Given the description of an element on the screen output the (x, y) to click on. 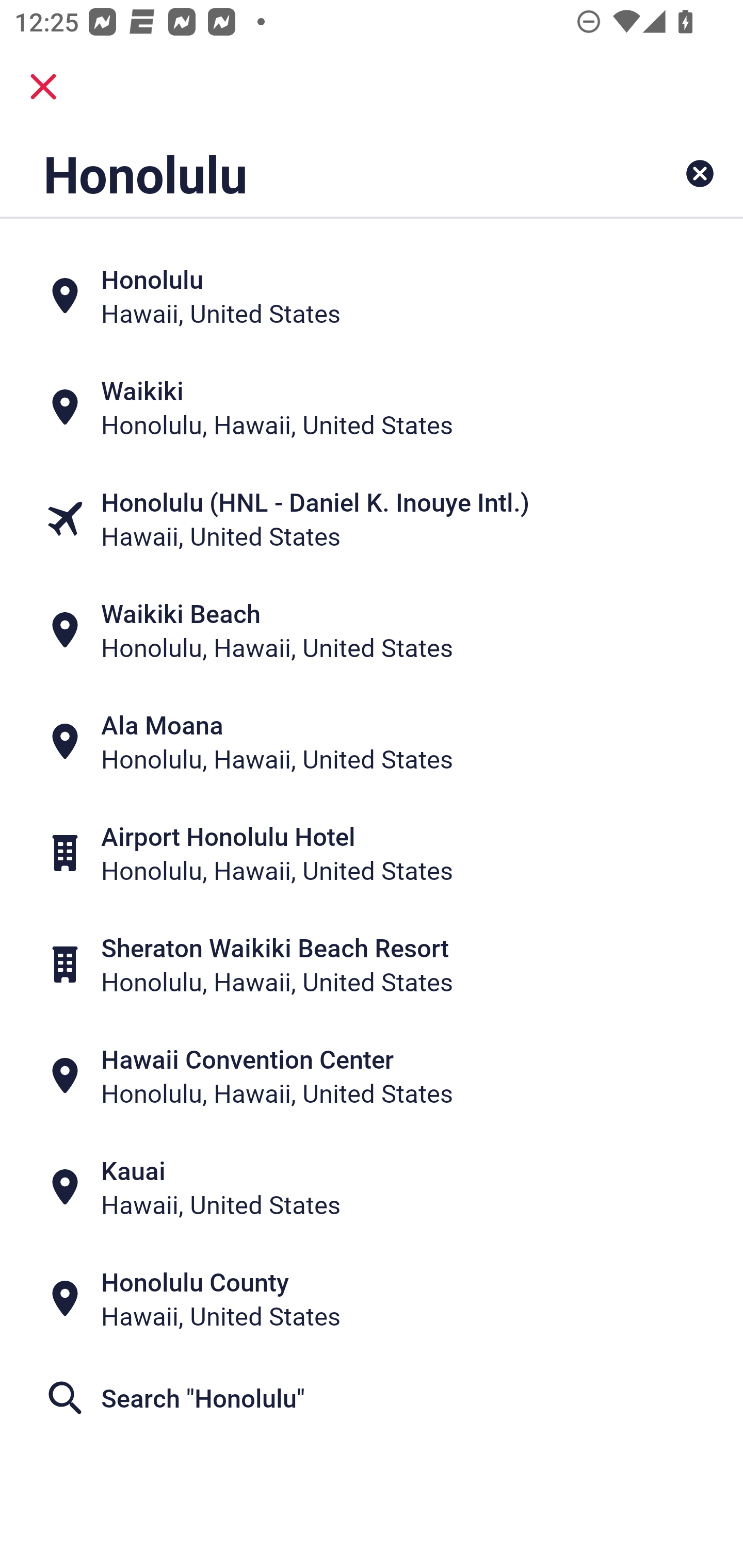
close. (43, 86)
Clear (699, 173)
Honolulu (306, 173)
Honolulu Hawaii, United States (371, 295)
Waikiki Honolulu, Hawaii, United States (371, 406)
Waikiki Beach Honolulu, Hawaii, United States (371, 629)
Ala Moana Honolulu, Hawaii, United States (371, 742)
Kauai Hawaii, United States (371, 1187)
Honolulu County Hawaii, United States (371, 1298)
Search "Honolulu" (371, 1397)
